Given the description of an element on the screen output the (x, y) to click on. 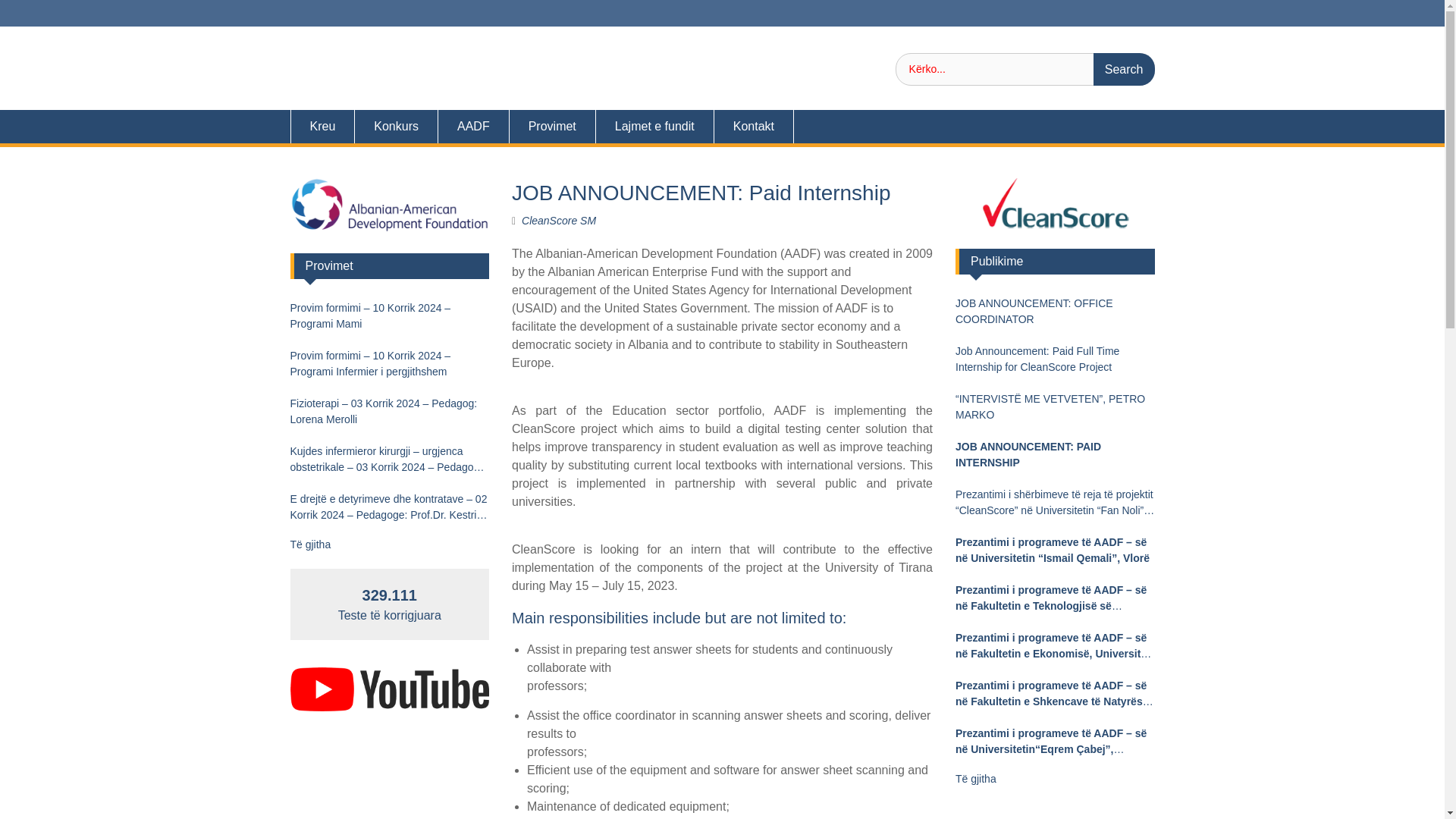
JOB ANNOUNCEMENT: PAID INTERNSHIP (1054, 454)
CleanScore SM (558, 220)
Lajmet e fundit (654, 126)
JOB ANNOUNCEMENT: OFFICE COORDINATOR (1054, 311)
Search (1123, 69)
Konkurs (396, 126)
Search (1123, 69)
Search (1123, 69)
Kontakt (753, 126)
Kreu (322, 126)
Search for: (1024, 69)
Provimet (552, 126)
AADF (473, 126)
